Given the description of an element on the screen output the (x, y) to click on. 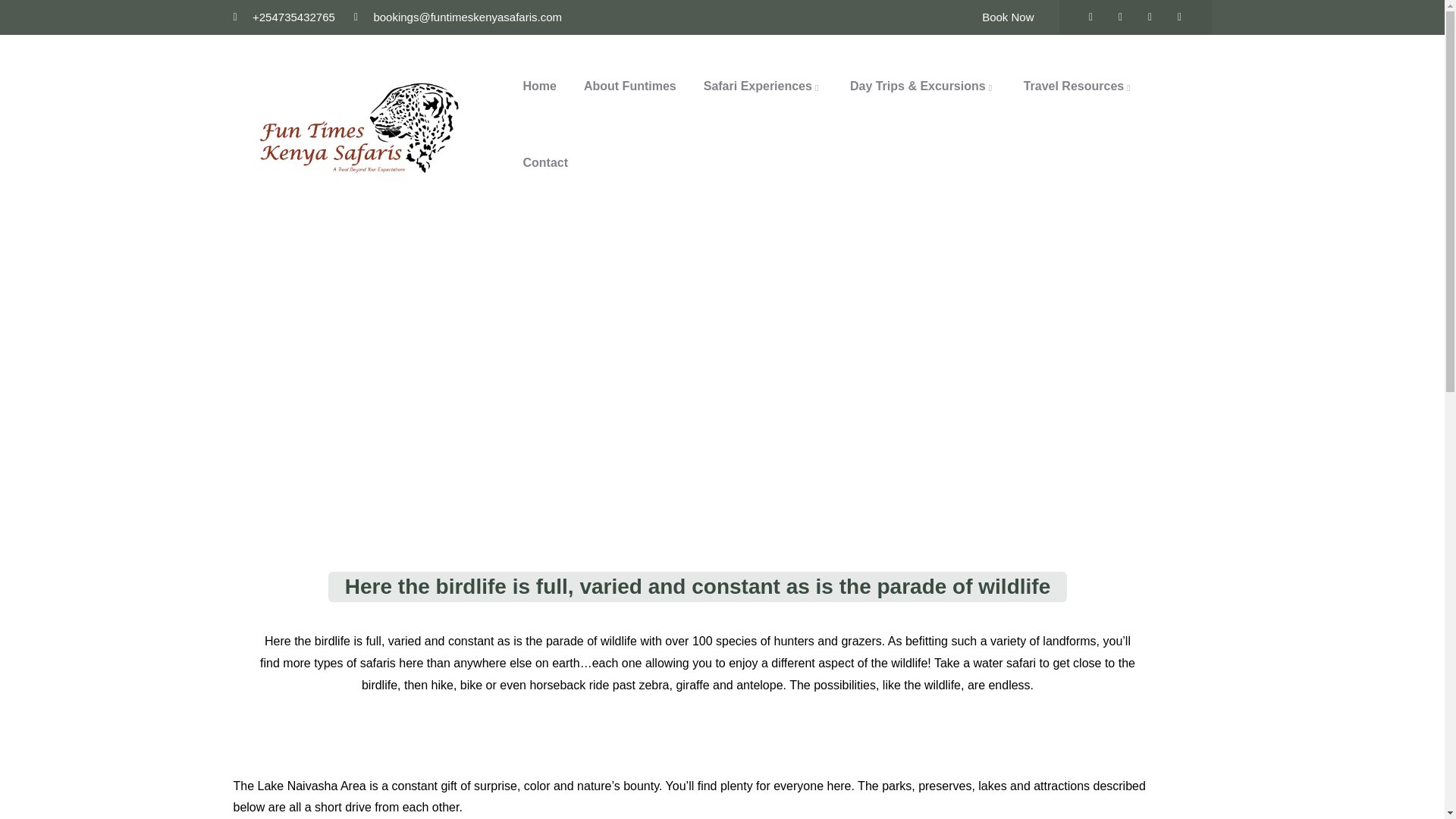
Travel Resources (1079, 86)
Book Now (1007, 17)
Safari Experiences (762, 86)
Home (359, 124)
Contact (545, 163)
About Funtimes (630, 86)
